Given the description of an element on the screen output the (x, y) to click on. 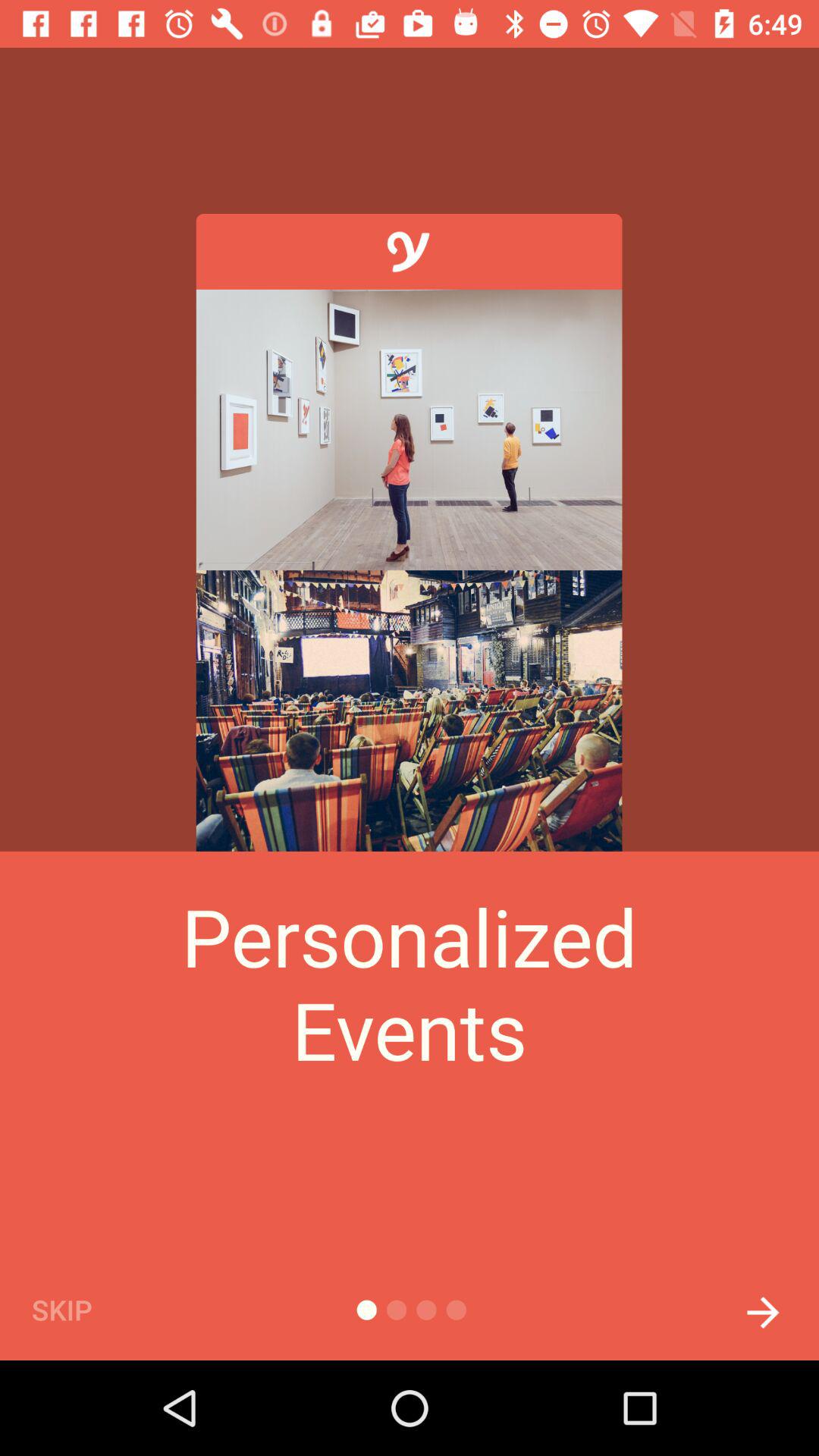
next page (763, 1308)
